Given the description of an element on the screen output the (x, y) to click on. 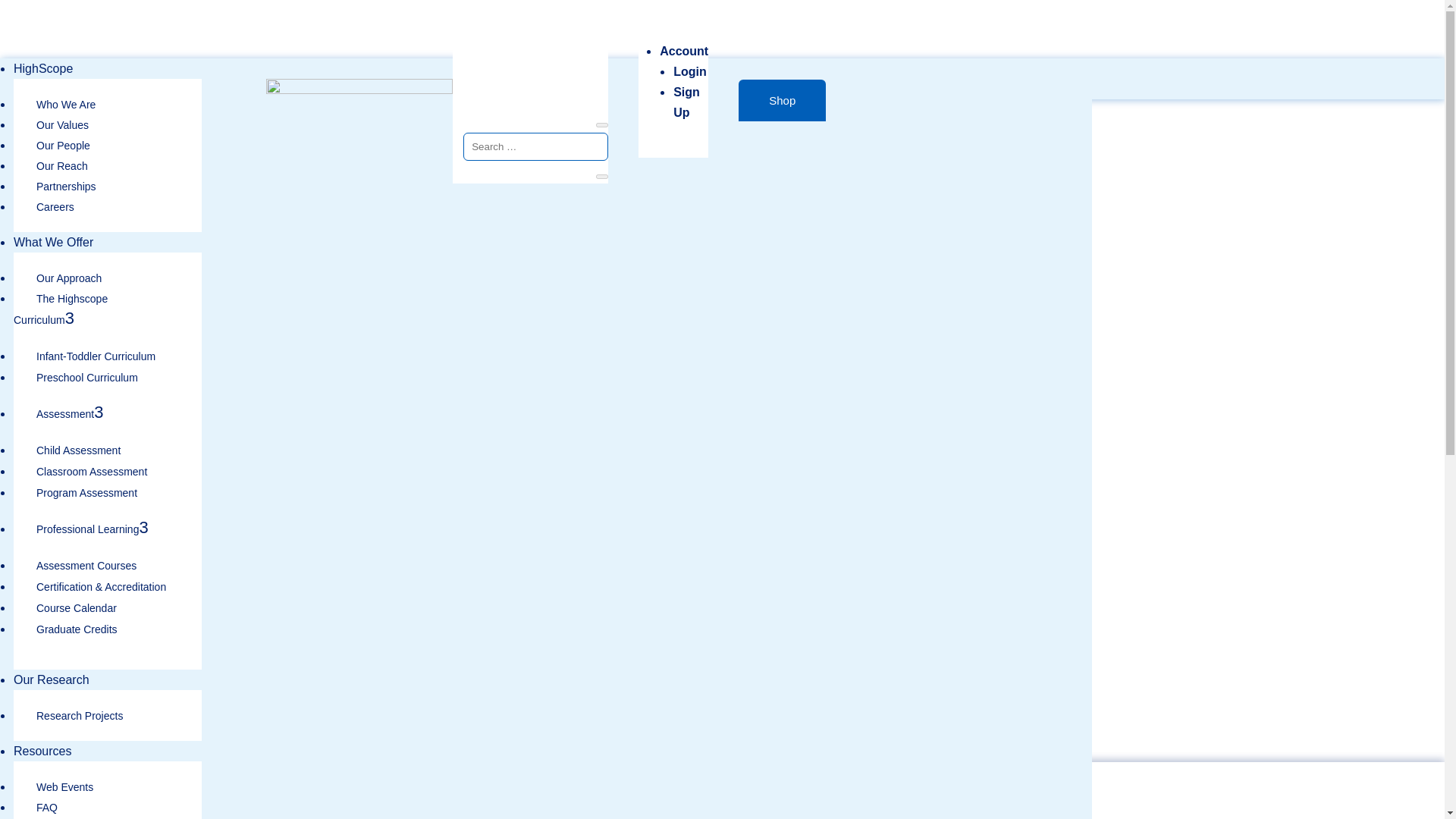
Account (683, 51)
Search for: (535, 146)
Shop (781, 100)
logo (359, 91)
Login (689, 71)
404-bg (546, 494)
